Given the description of an element on the screen output the (x, y) to click on. 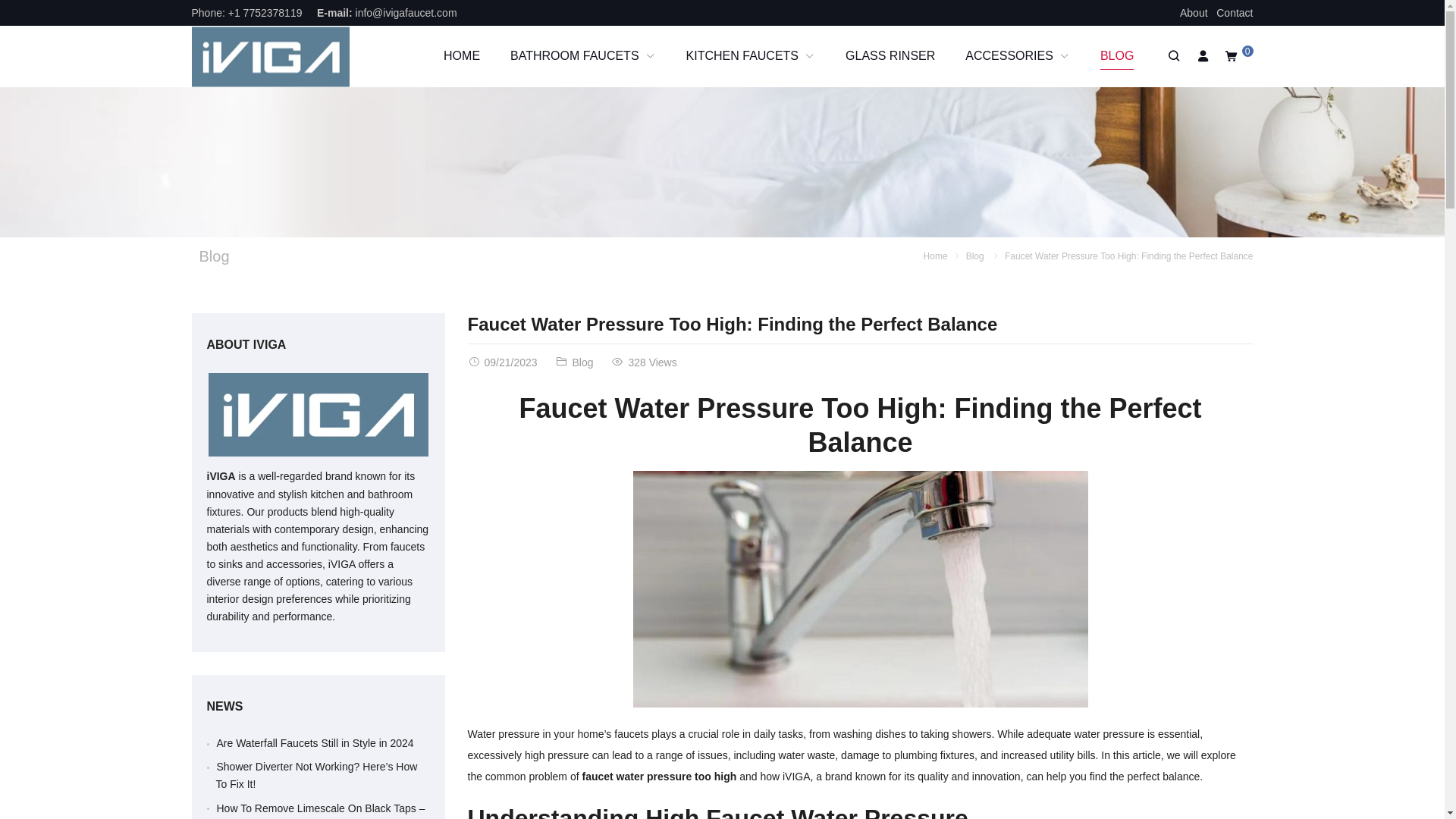
About (1193, 12)
BATHROOM FAUCETS (583, 55)
Home (935, 255)
Blog (975, 255)
ACCESSORIES (1017, 55)
BLOG (1116, 55)
HOME (461, 55)
Contact (1233, 12)
Search (1172, 55)
KITCHEN FAUCETS (750, 55)
home (461, 55)
iVIGA Faucet Online  Shop (269, 56)
Blog (213, 256)
GLASS RINSER (889, 55)
